Given the description of an element on the screen output the (x, y) to click on. 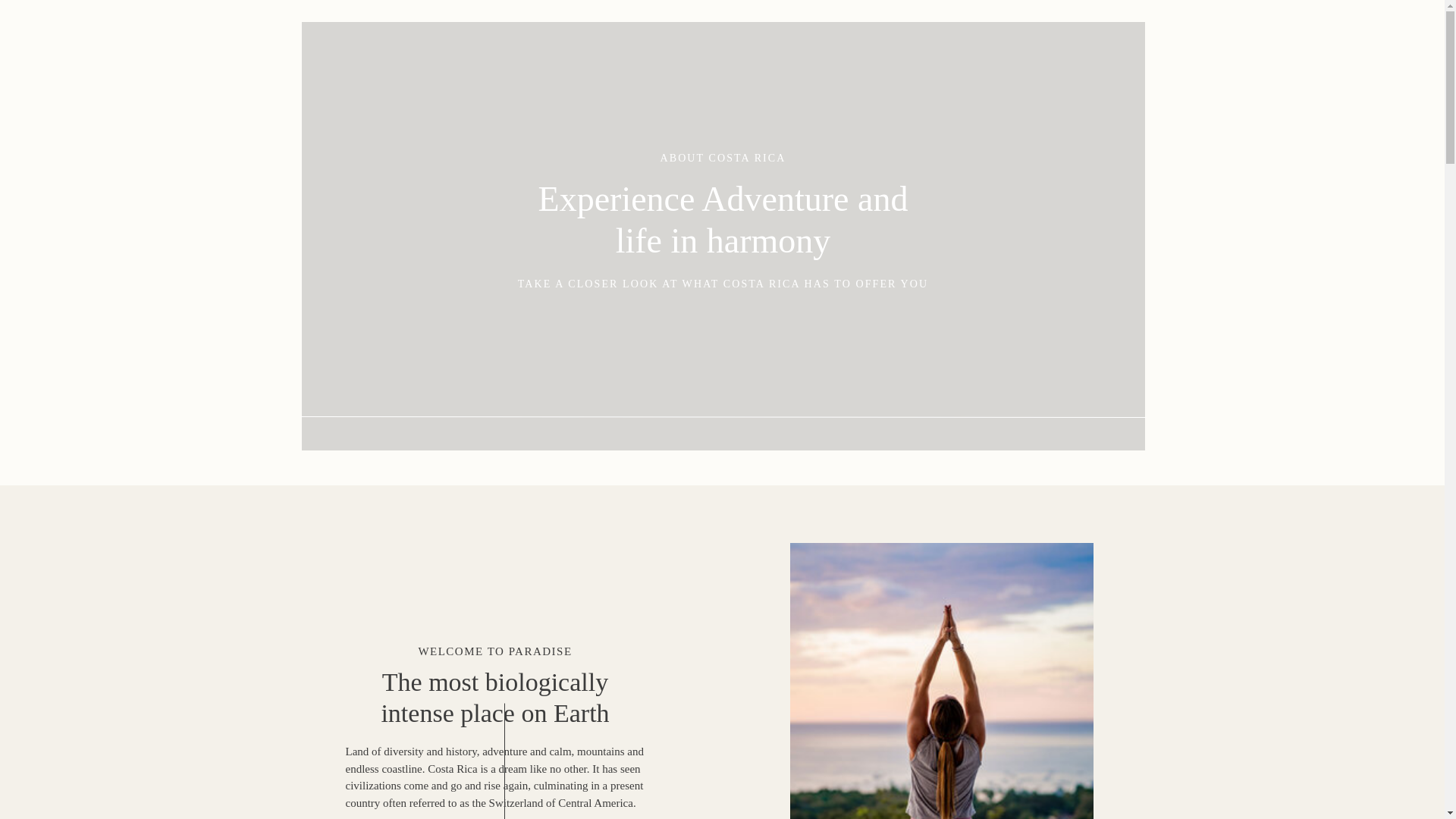
TAKE A CLOSER LOOK AT WHAT COSTA RICA HAS TO OFFER YOU (722, 282)
